Given the description of an element on the screen output the (x, y) to click on. 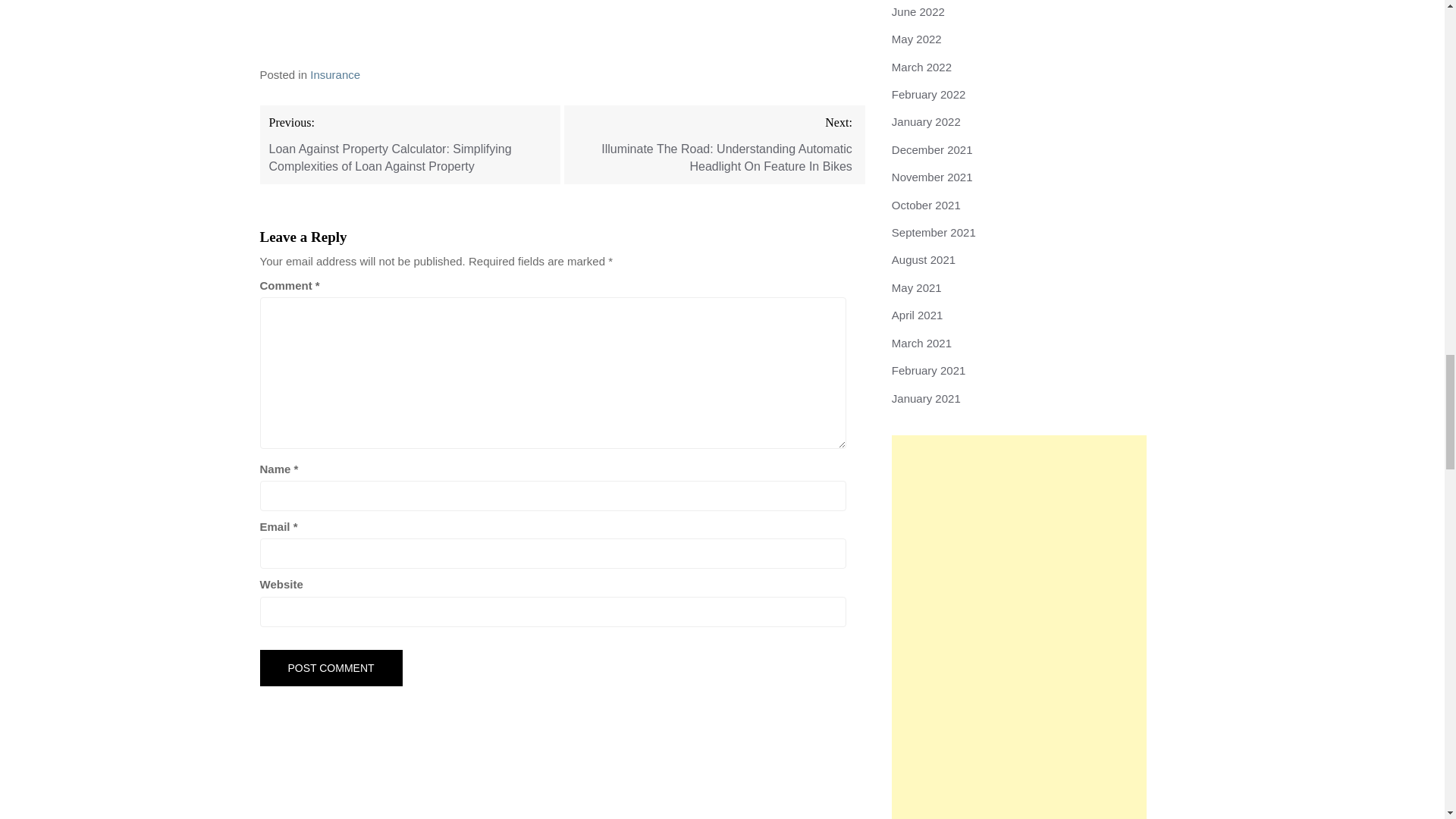
Insurance (334, 74)
Post Comment (330, 668)
Post Comment (330, 668)
